Given the description of an element on the screen output the (x, y) to click on. 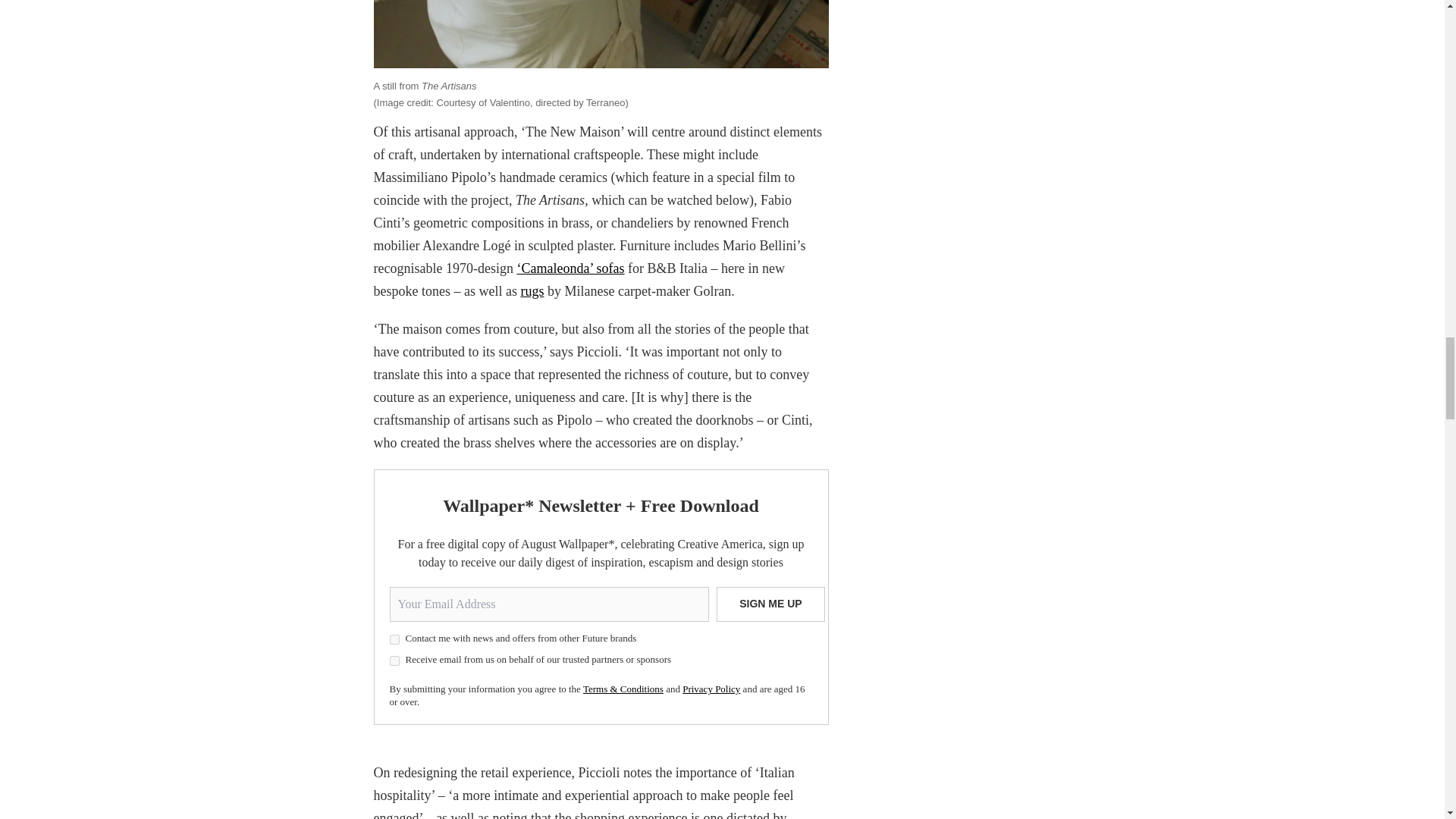
on (394, 639)
Sign me up (770, 604)
Sign me up (770, 604)
on (394, 660)
Privacy Policy (710, 688)
rugs (531, 290)
